Given the description of an element on the screen output the (x, y) to click on. 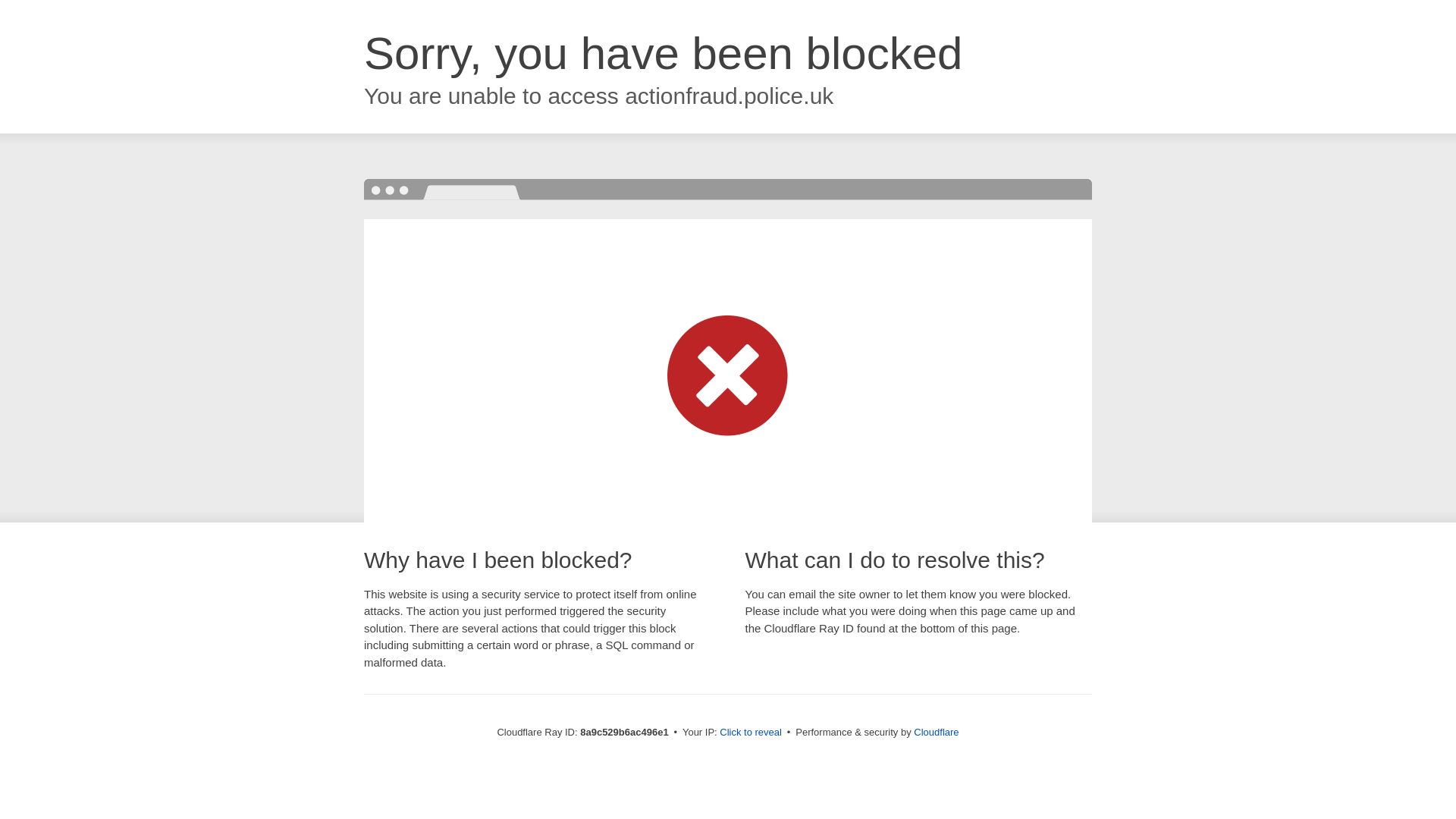
Cloudflare (936, 731)
Click to reveal (750, 732)
